Given the description of an element on the screen output the (x, y) to click on. 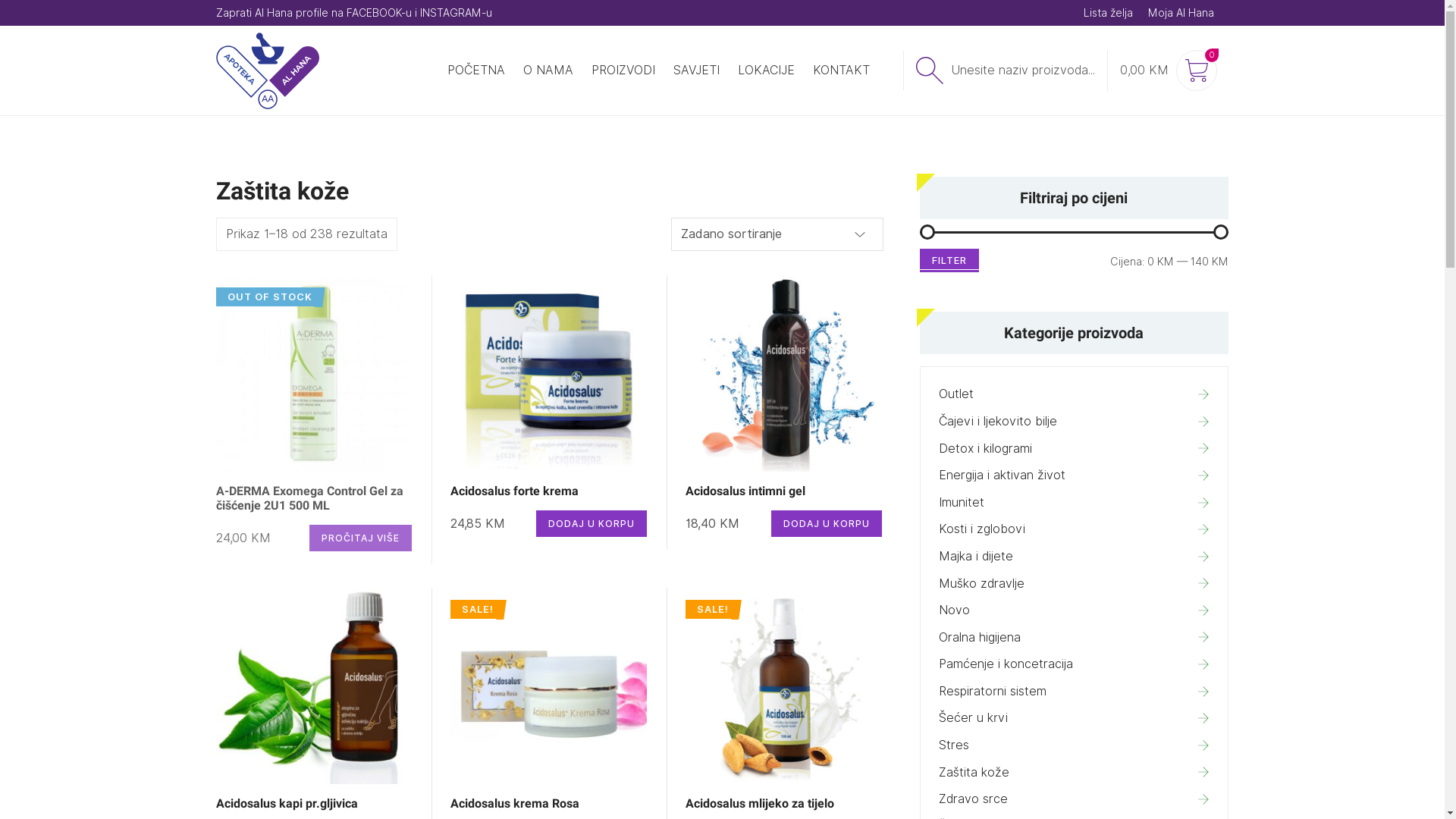
O NAMA Element type: text (548, 70)
INSTAGRAM-u Element type: text (456, 12)
Outlet Element type: text (1074, 394)
SAVJETI Element type: text (696, 70)
KONTAKT Element type: text (840, 70)
Unesite naziv proizvoda... Element type: text (1004, 70)
FILTER Element type: text (948, 260)
Respiratorni sistem Element type: text (1074, 691)
Majka i dijete Element type: text (1074, 556)
0,00 KM
0 Element type: text (1168, 70)
FACEBOOK-u Element type: text (378, 12)
SALE! Element type: text (548, 685)
PROIZVODI Element type: text (623, 70)
Stres Element type: text (1074, 745)
Moja Al Hana Element type: text (1181, 12)
DODAJ U KORPU Element type: text (826, 523)
Imunitet Element type: text (1074, 502)
LOKACIJE Element type: text (765, 70)
Apoteka Al Hana Element type: hover (267, 70)
Oralna higijena Element type: text (1074, 637)
DODAJ U KORPU Element type: text (591, 523)
Zdravo srce Element type: text (1074, 799)
Detox i kilogrami Element type: text (1074, 448)
Kosti i zglobovi Element type: text (1074, 529)
SALE! Element type: text (783, 685)
Novo Element type: text (1074, 610)
